Given the description of an element on the screen output the (x, y) to click on. 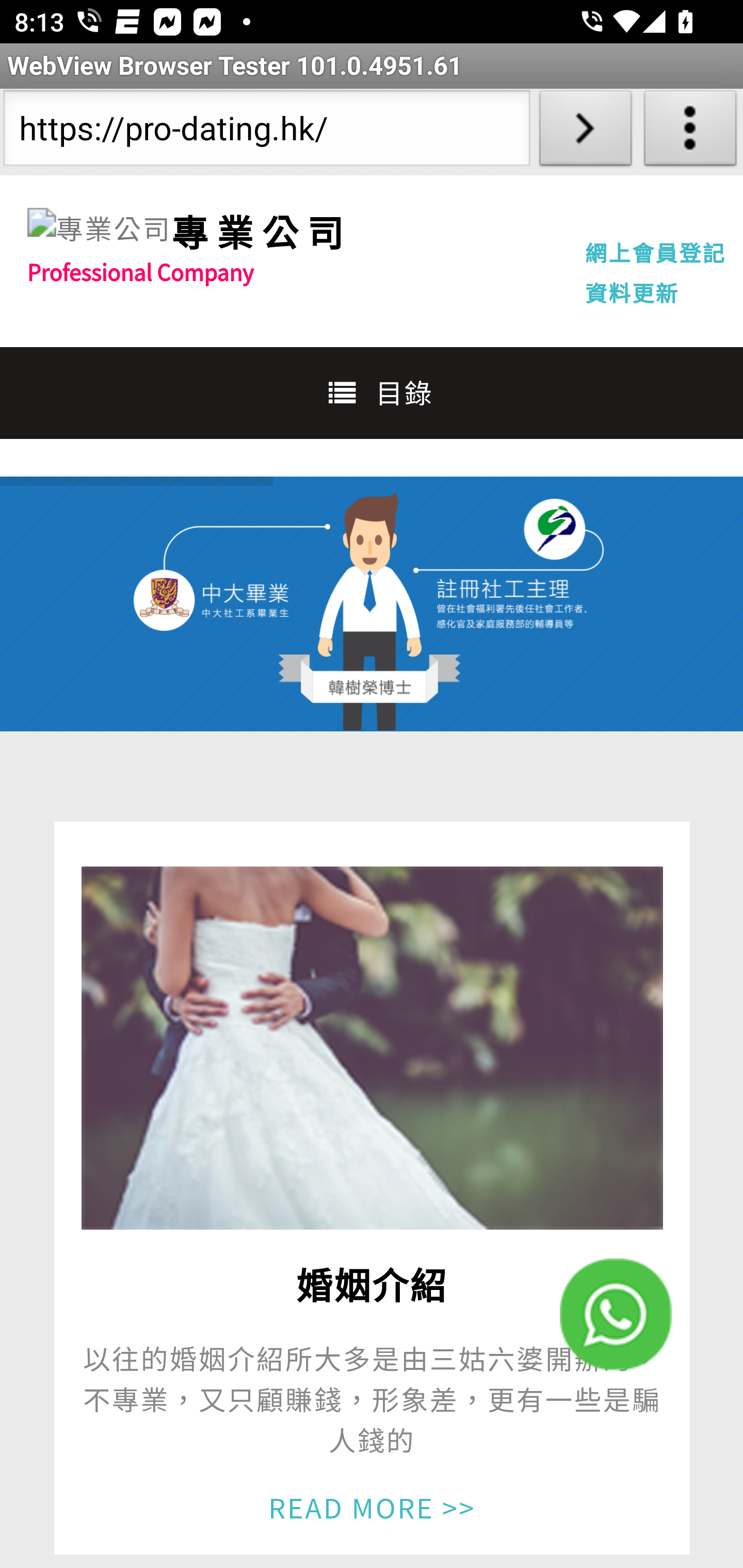
https://pro-dating.hk/ (266, 132)
Load URL (585, 132)
About WebView (690, 132)
專業公司 (261, 230)
專業公司 (99, 228)
網上會員登記 (655, 251)
資料更新 (631, 292)
目錄  目錄 (371, 391)
婚姻介紹 (371, 1047)
sidewhatsapp (616, 1314)
READ MORE >> (372, 1506)
